Given the description of an element on the screen output the (x, y) to click on. 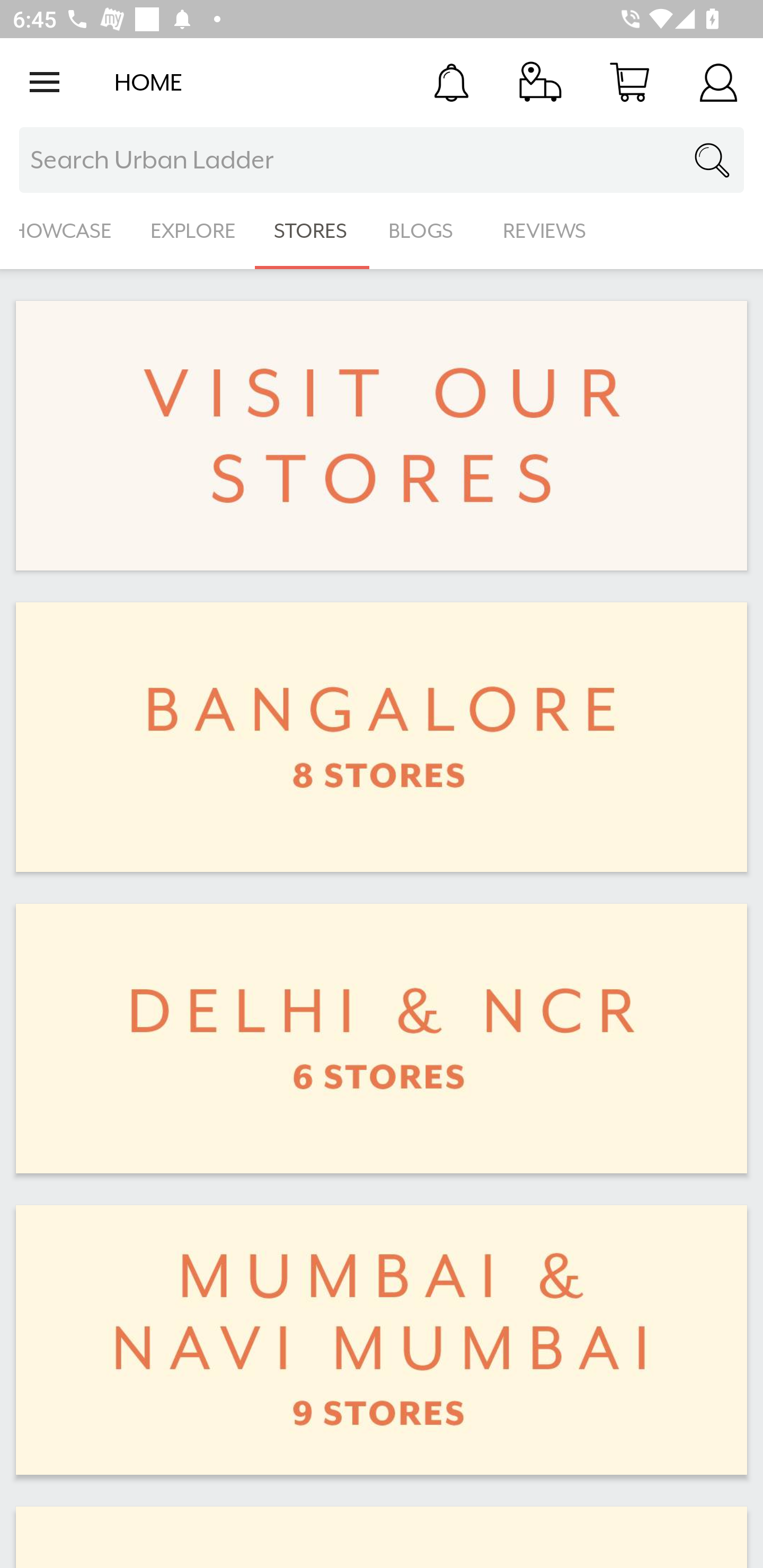
Open navigation drawer (44, 82)
Notification (450, 81)
Track Order (540, 81)
Cart (629, 81)
Account Details (718, 81)
Search Urban Ladder  (381, 159)
SHOWCASE (65, 230)
EXPLORE (192, 230)
STORES (311, 230)
BLOGS (426, 230)
REVIEWS (544, 230)
